Given the description of an element on the screen output the (x, y) to click on. 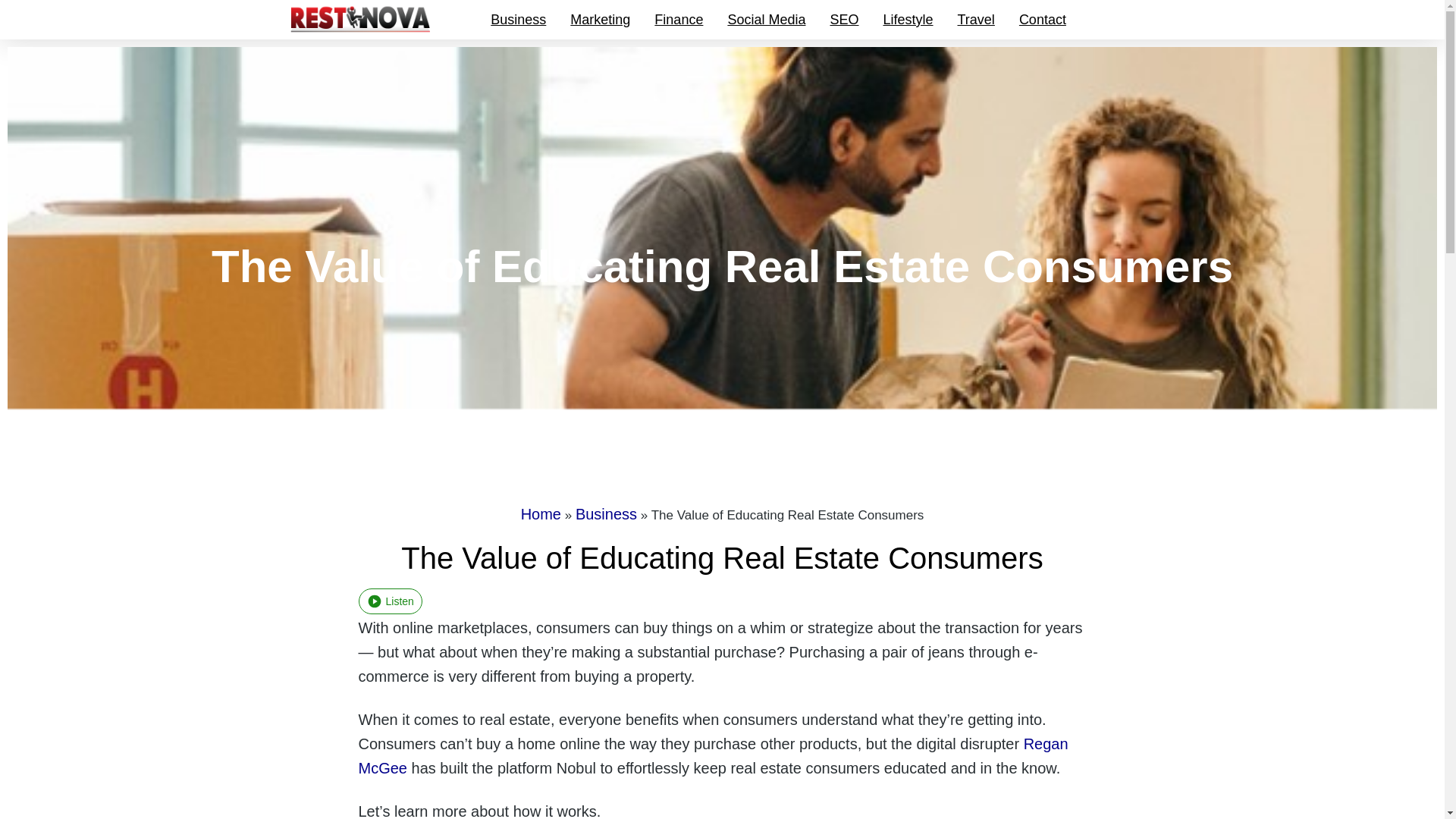
Business (606, 514)
Business (518, 19)
Contact (1042, 19)
Regan McGee (712, 755)
Home (540, 514)
Marketing (599, 19)
Social Media (765, 19)
Finance (678, 19)
Travel (975, 19)
SEO (843, 19)
